Given the description of an element on the screen output the (x, y) to click on. 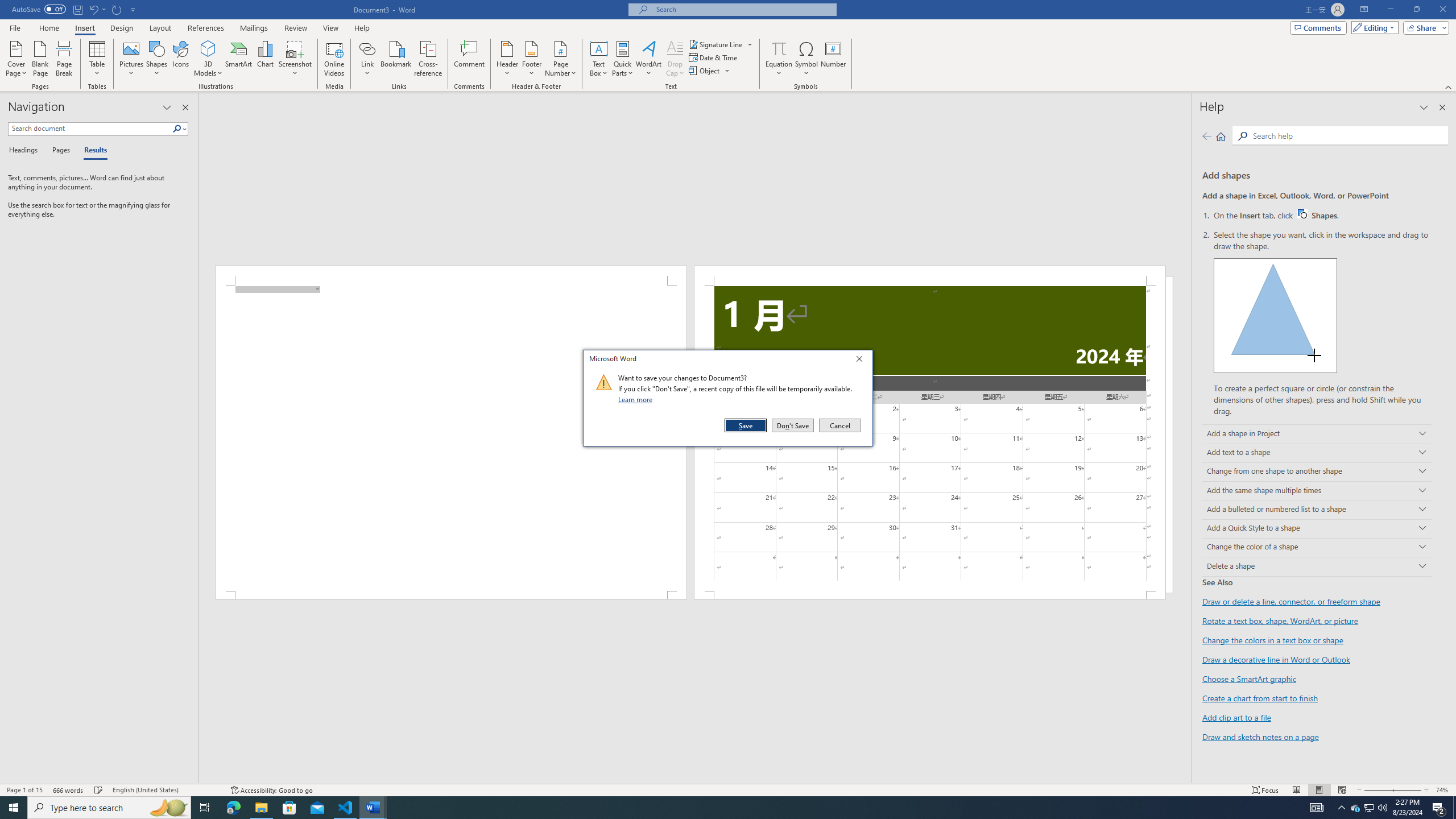
Add clip art to a file (1236, 717)
Drawing a shape (1275, 315)
Quick Parts (622, 58)
Web Layout (1342, 790)
Search document (89, 128)
Read Mode (1296, 790)
Draw or delete a line, connector, or freeform shape (1291, 601)
Bookmark... (396, 58)
Previous page (1206, 136)
Q2790: 100% (1382, 807)
Spelling and Grammar Check Checking (98, 790)
